Given the description of an element on the screen output the (x, y) to click on. 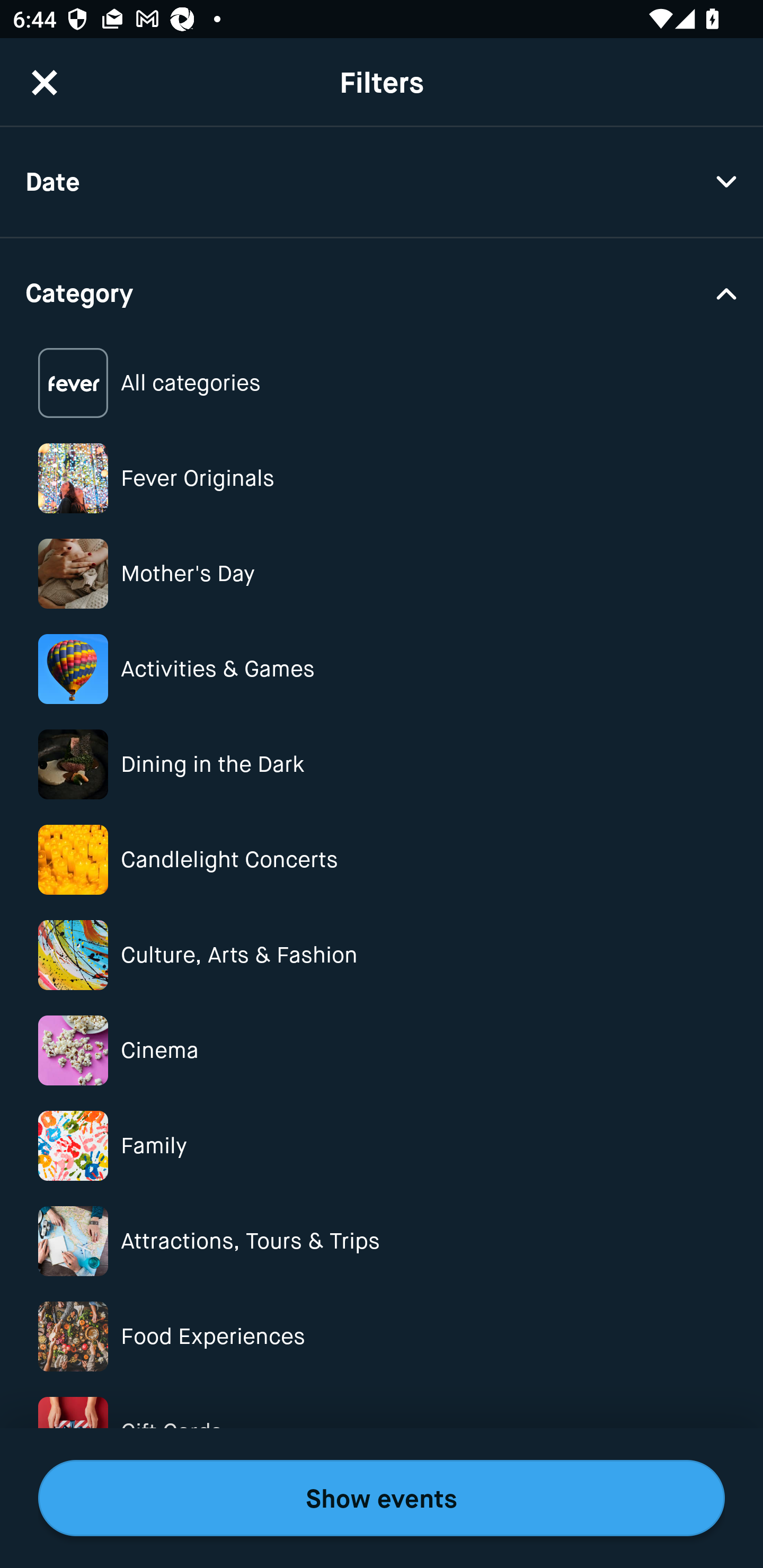
CloseButton (44, 82)
Date Drop Down Arrow (381, 182)
Category Drop Down Arrow (381, 291)
Category Image All categories (381, 382)
Category Image Fever Originals (381, 477)
Category Image Mother's Day (381, 573)
Category Image Activities & Games (381, 668)
Category Image Dining in the Dark (381, 763)
Category Image Candlelight Concerts (381, 859)
Category Image Culture, Arts & Fashion (381, 954)
Category Image Cinema (381, 1050)
Category Image Family (381, 1145)
Category Image Attractions, Tours & Trips (381, 1240)
Category Image Food Experiences (381, 1336)
Show events (381, 1497)
